Given the description of an element on the screen output the (x, y) to click on. 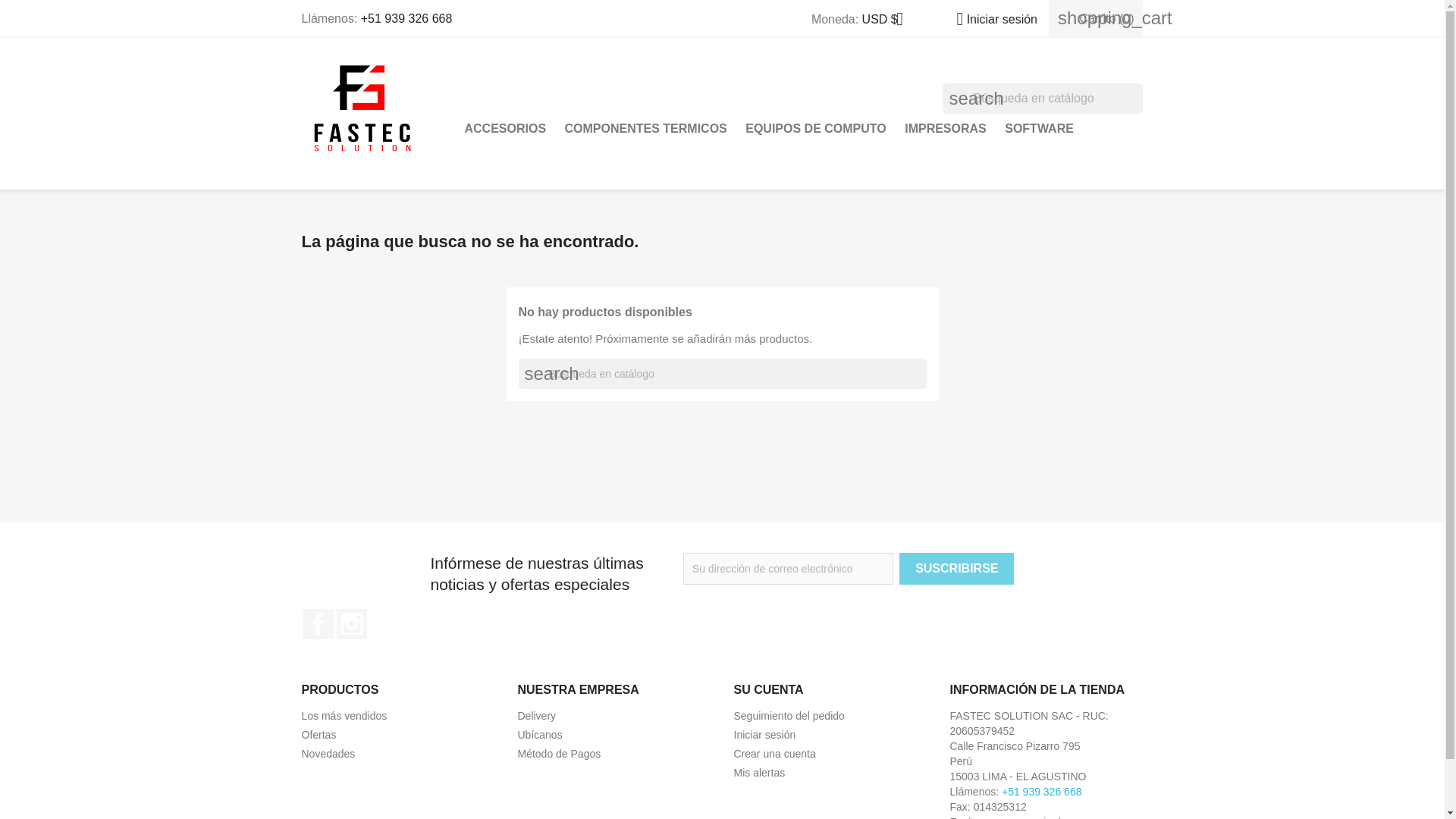
Suscribirse (956, 568)
Ofertas (318, 734)
Suscribirse (956, 568)
EQUIPOS DE COMPUTO (815, 128)
Nuestros productos especiales (318, 734)
ACCESORIOS (505, 128)
Novedades (328, 753)
Acceda a su cuenta de cliente (764, 734)
IMPRESORAS (945, 128)
Instagram (351, 624)
SOFTWARE (1039, 128)
Crear una cuenta (774, 753)
Seguimiento del pedido (788, 715)
Delivery (536, 715)
Novedades (328, 753)
